Given the description of an element on the screen output the (x, y) to click on. 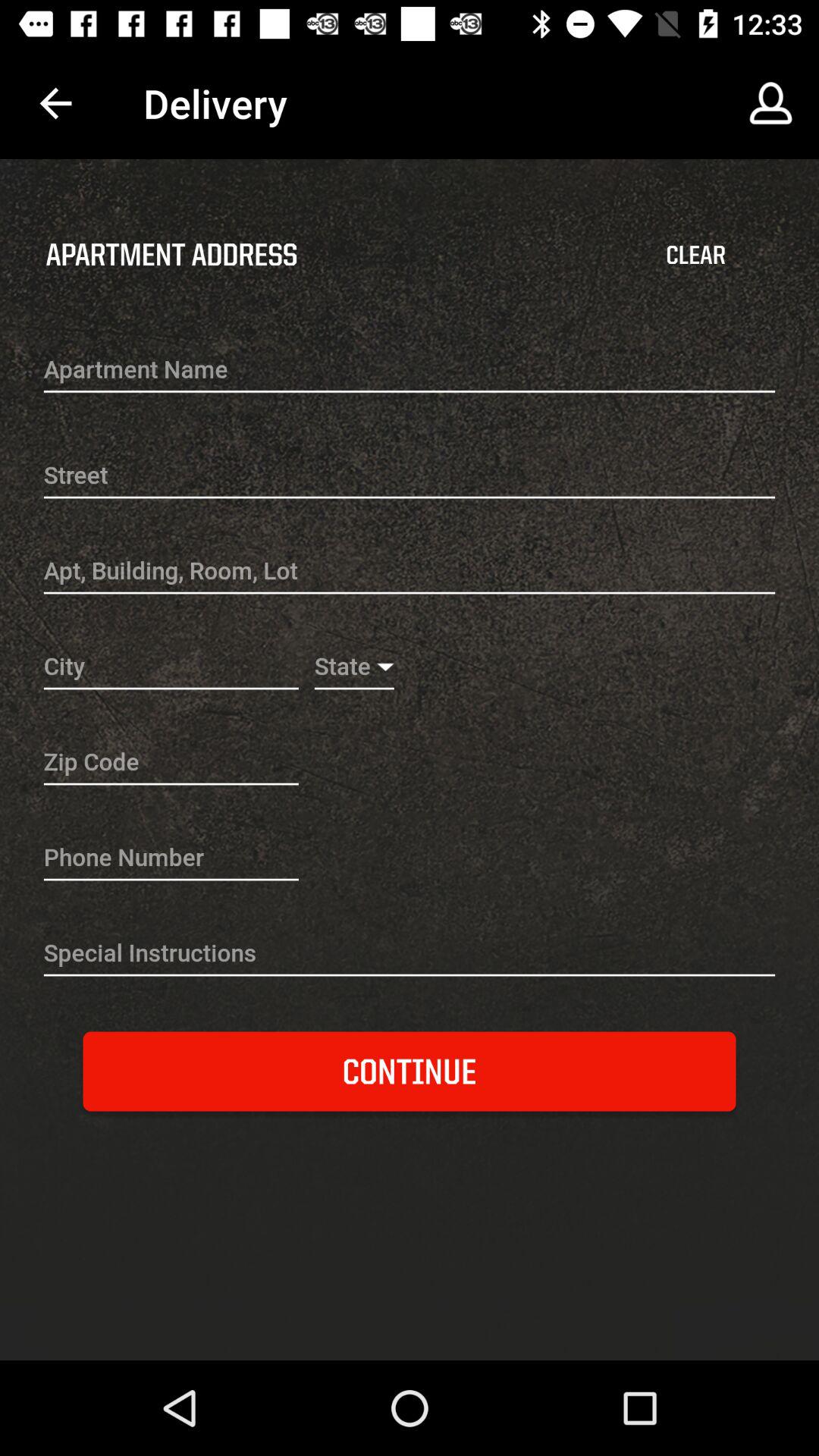
tap app to the left of delivery app (55, 103)
